Given the description of an element on the screen output the (x, y) to click on. 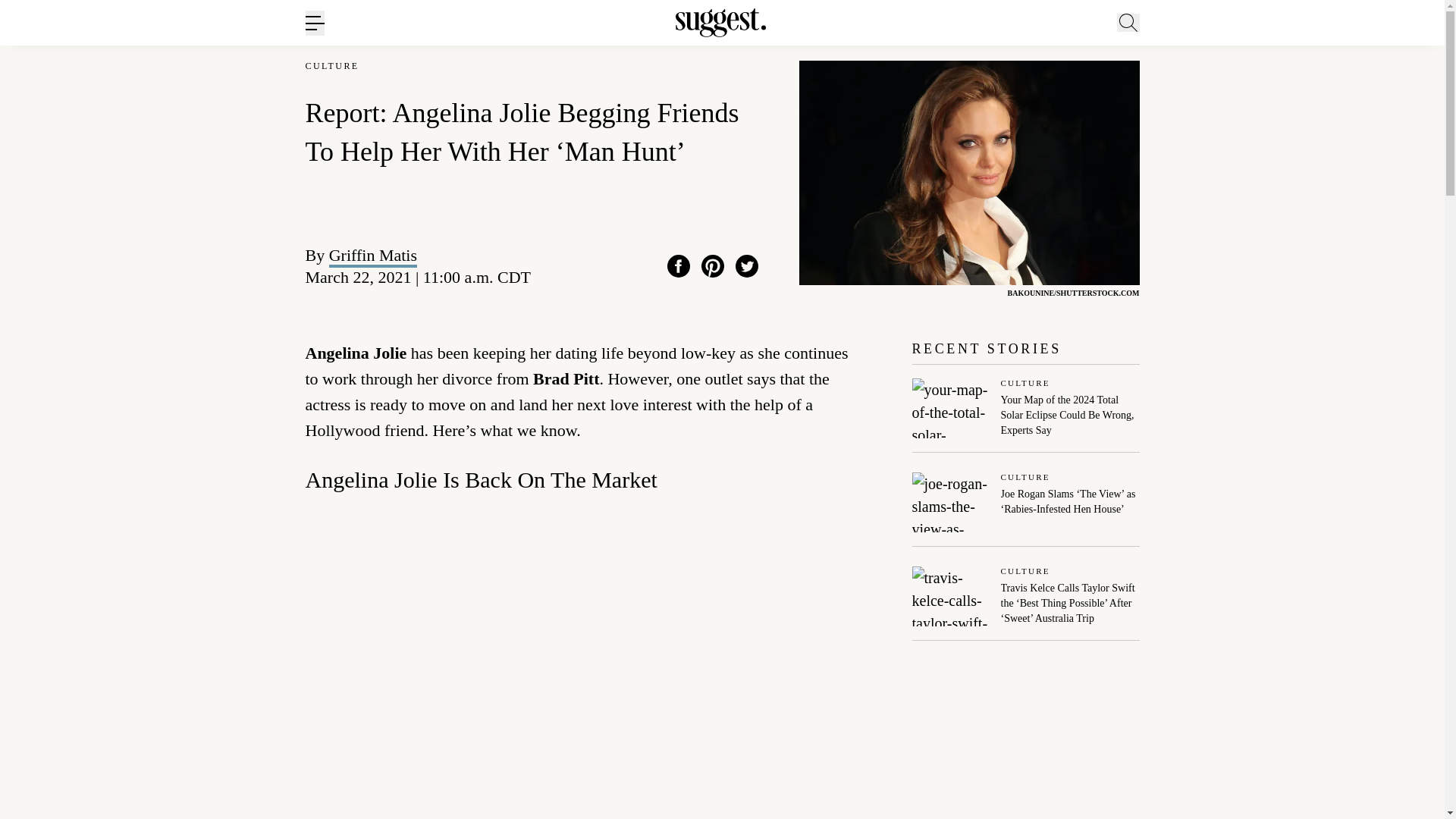
Culture (1070, 572)
Suggest (720, 22)
Griffin Matis (372, 255)
Culture (1070, 478)
Pinterest (712, 265)
CULTURE (331, 66)
Facebook (678, 265)
Twitter (746, 265)
Search (1170, 95)
